Given the description of an element on the screen output the (x, y) to click on. 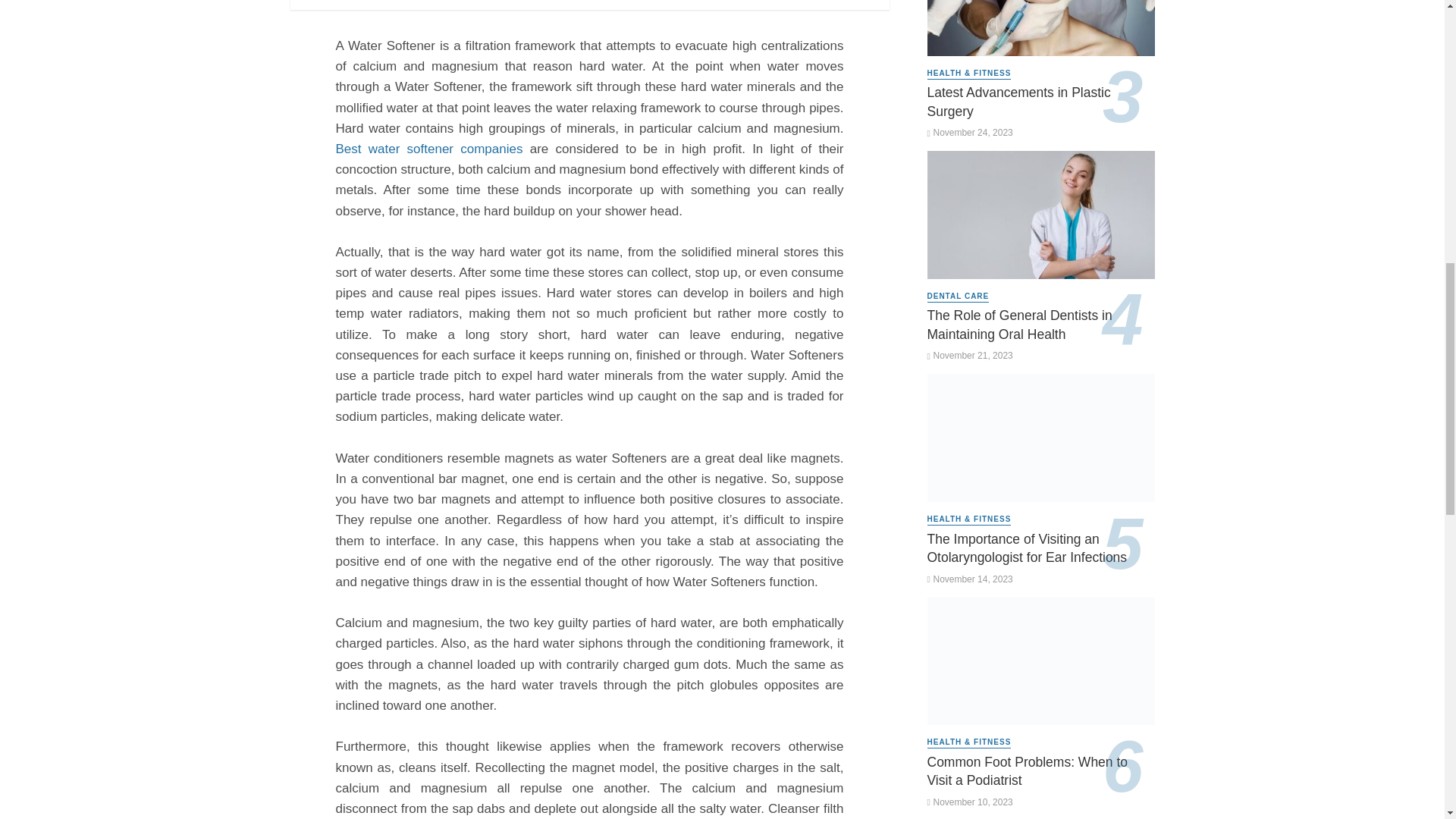
Latest Advancements in Plastic Surgery (1040, 28)
Latest Advancements in Plastic Surgery (1040, 101)
Best water softener companies (428, 148)
